Given the description of an element on the screen output the (x, y) to click on. 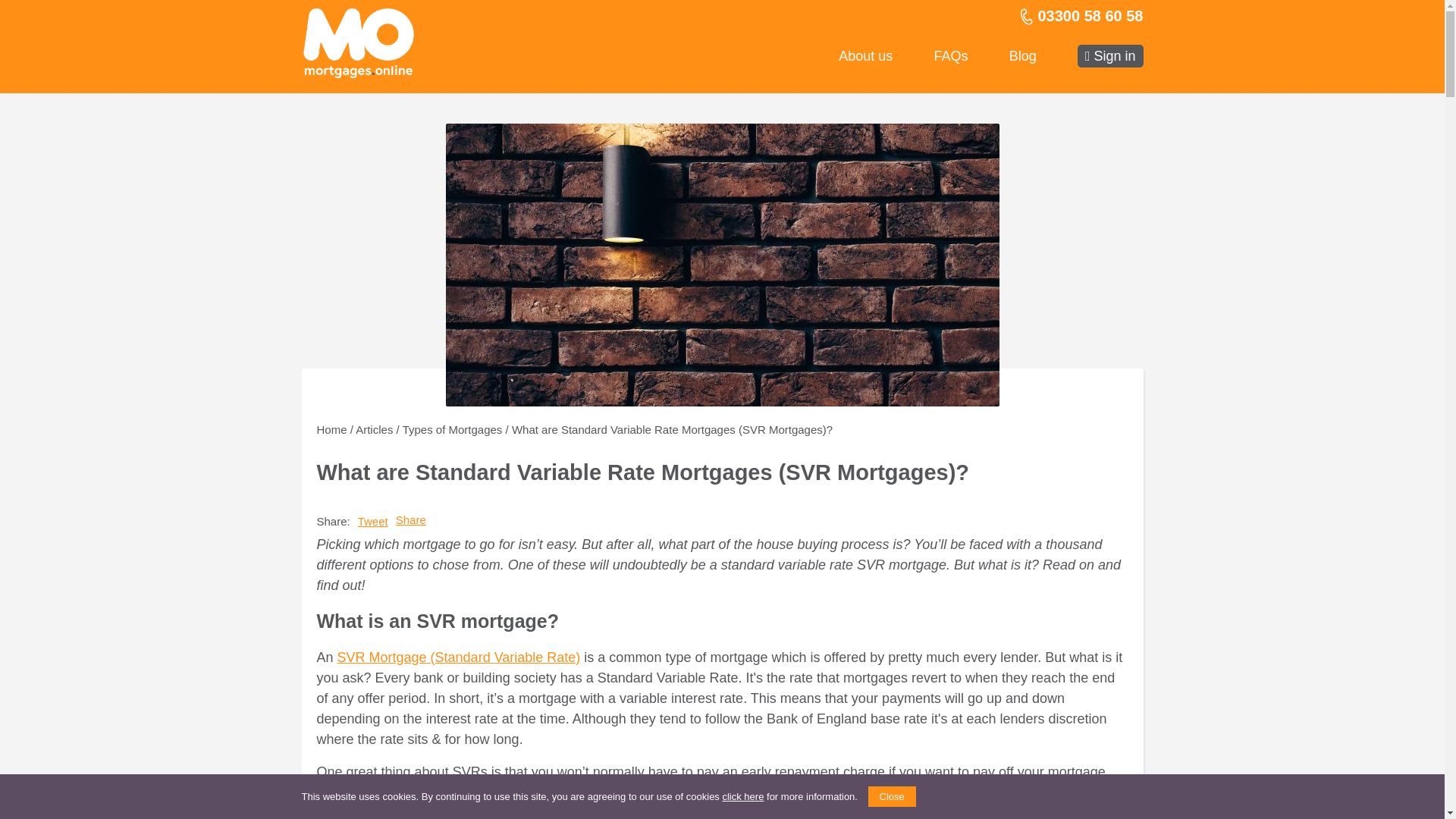
Articles (374, 429)
Tweet (373, 521)
click here (742, 795)
Home (332, 429)
Types of Mortgages (452, 429)
Blog (1022, 55)
FAQs (950, 55)
Close (891, 795)
Share (411, 519)
About us (865, 55)
03300 58 60 58 (1079, 15)
Sign in (1109, 56)
